Given the description of an element on the screen output the (x, y) to click on. 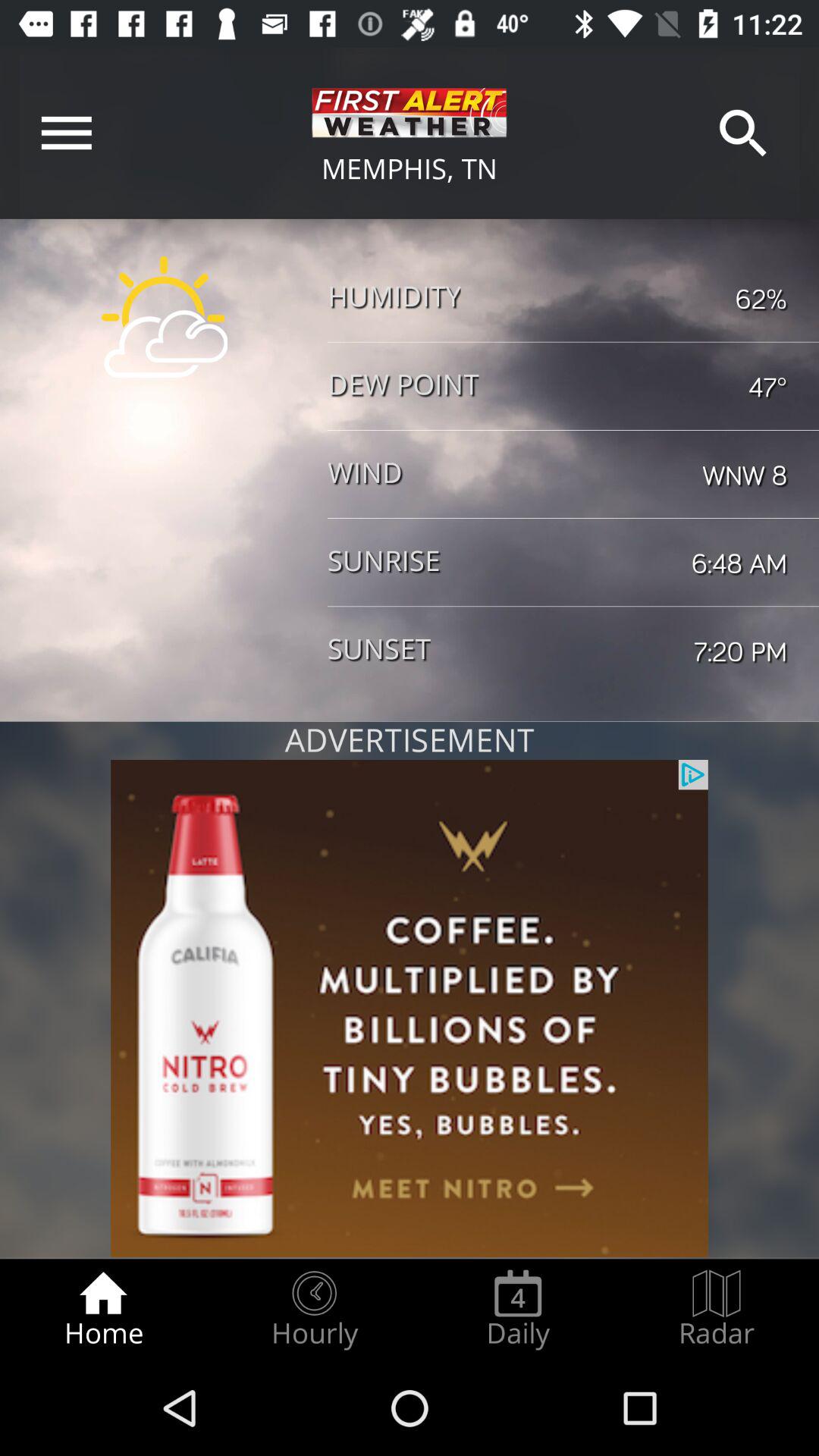
launch item next to daily item (314, 1309)
